Given the description of an element on the screen output the (x, y) to click on. 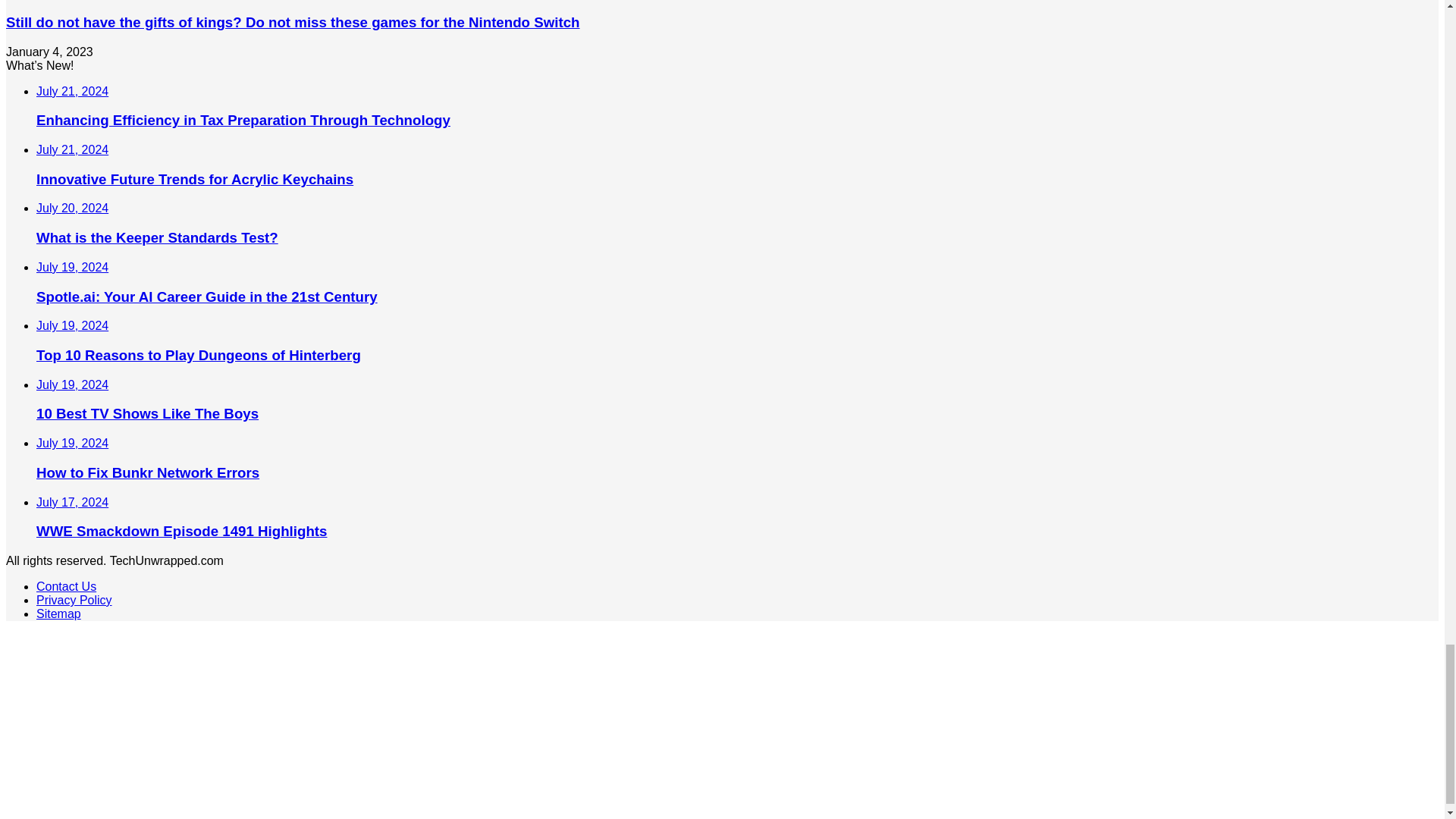
Privacy Policy (74, 599)
Sitemap (58, 613)
Contact Us (66, 585)
